Given the description of an element on the screen output the (x, y) to click on. 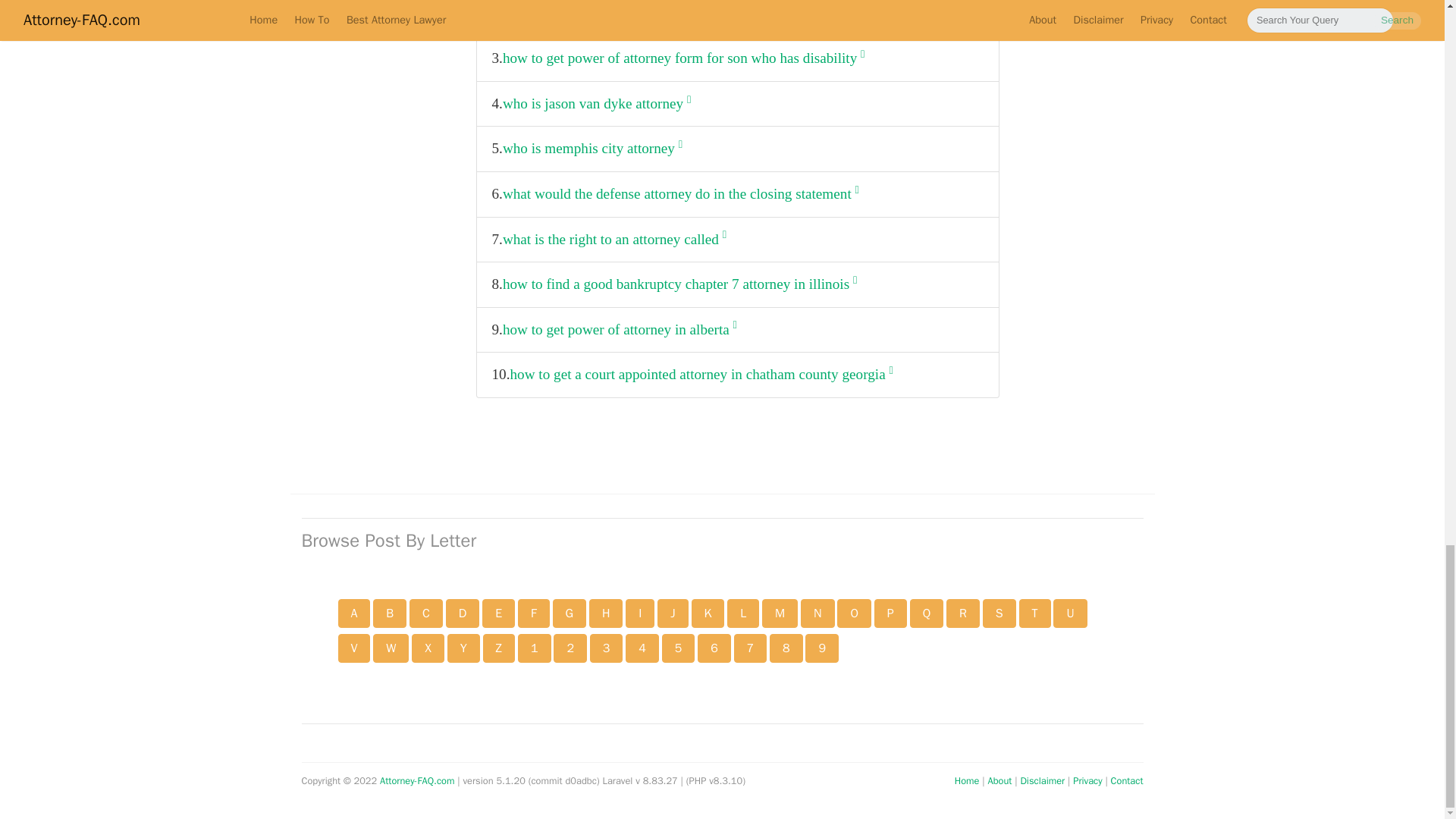
who is memphis city attorney (592, 148)
how to find a good bankruptcy chapter 7 attorney in illinois (679, 284)
what would the defense attorney do in the closing statement (680, 194)
what would the defense attorney do in the closing statement (680, 194)
D (462, 613)
M (779, 613)
how to get power of attorney in alberta (619, 329)
J (672, 613)
situations where medical power of attorney makes decisions (681, 13)
Q (926, 613)
F (534, 613)
how to find a good bankruptcy chapter 7 attorney in illinois (679, 284)
who is memphis city attorney (592, 148)
P (891, 613)
